Given the description of an element on the screen output the (x, y) to click on. 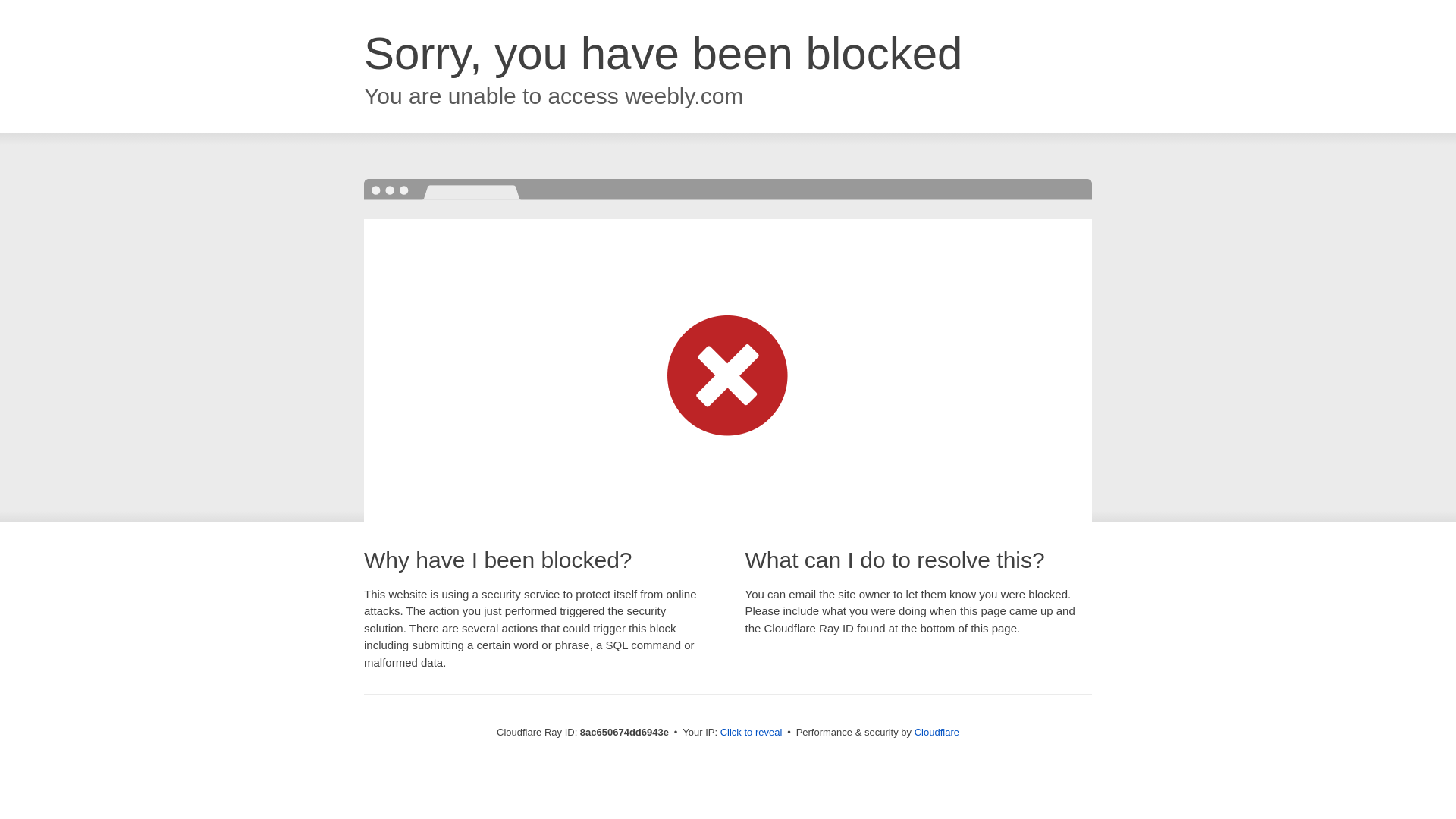
Cloudflare (936, 731)
Click to reveal (751, 732)
